Given the description of an element on the screen output the (x, y) to click on. 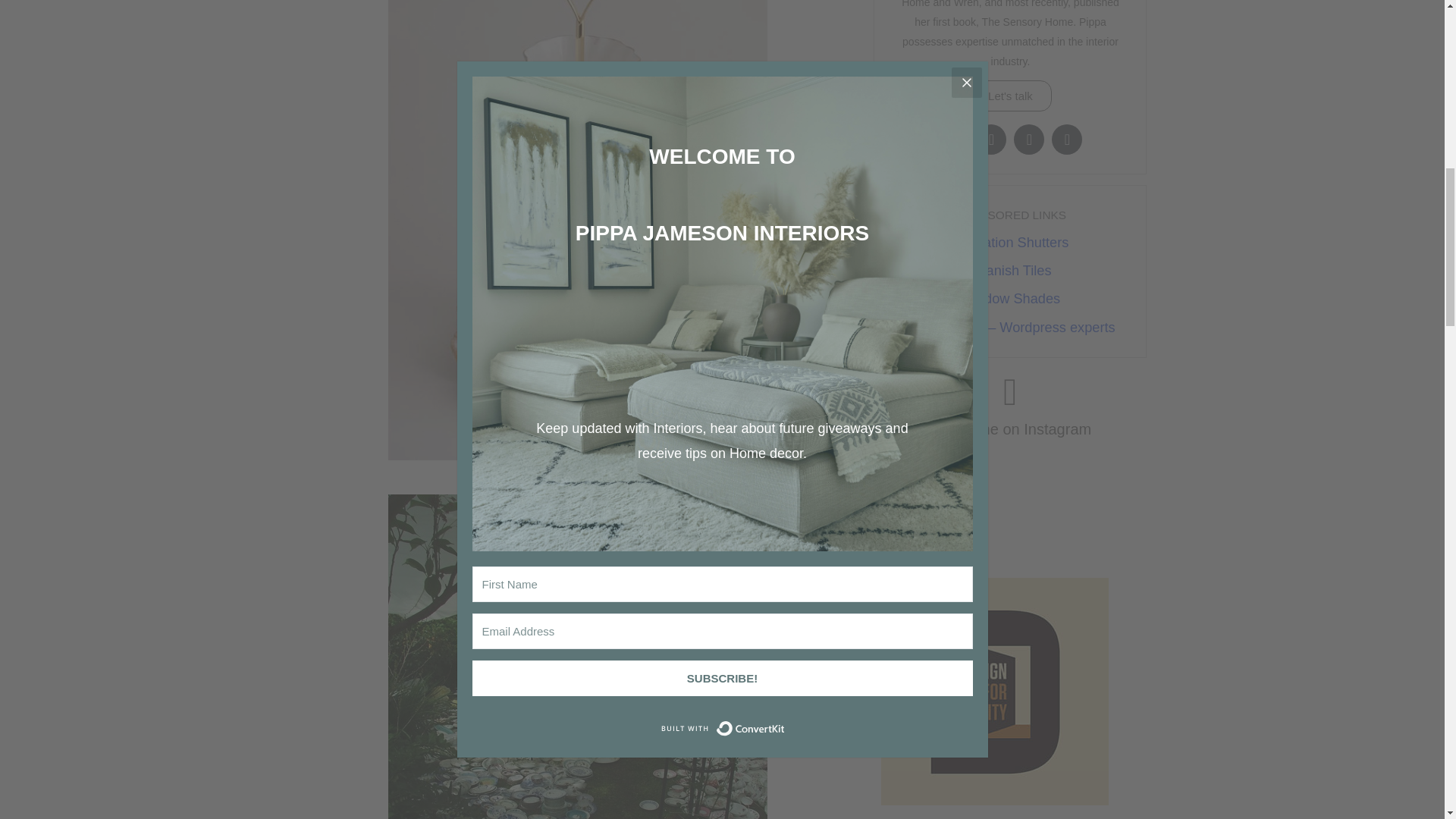
Plate sorting (577, 656)
